Given the description of an element on the screen output the (x, y) to click on. 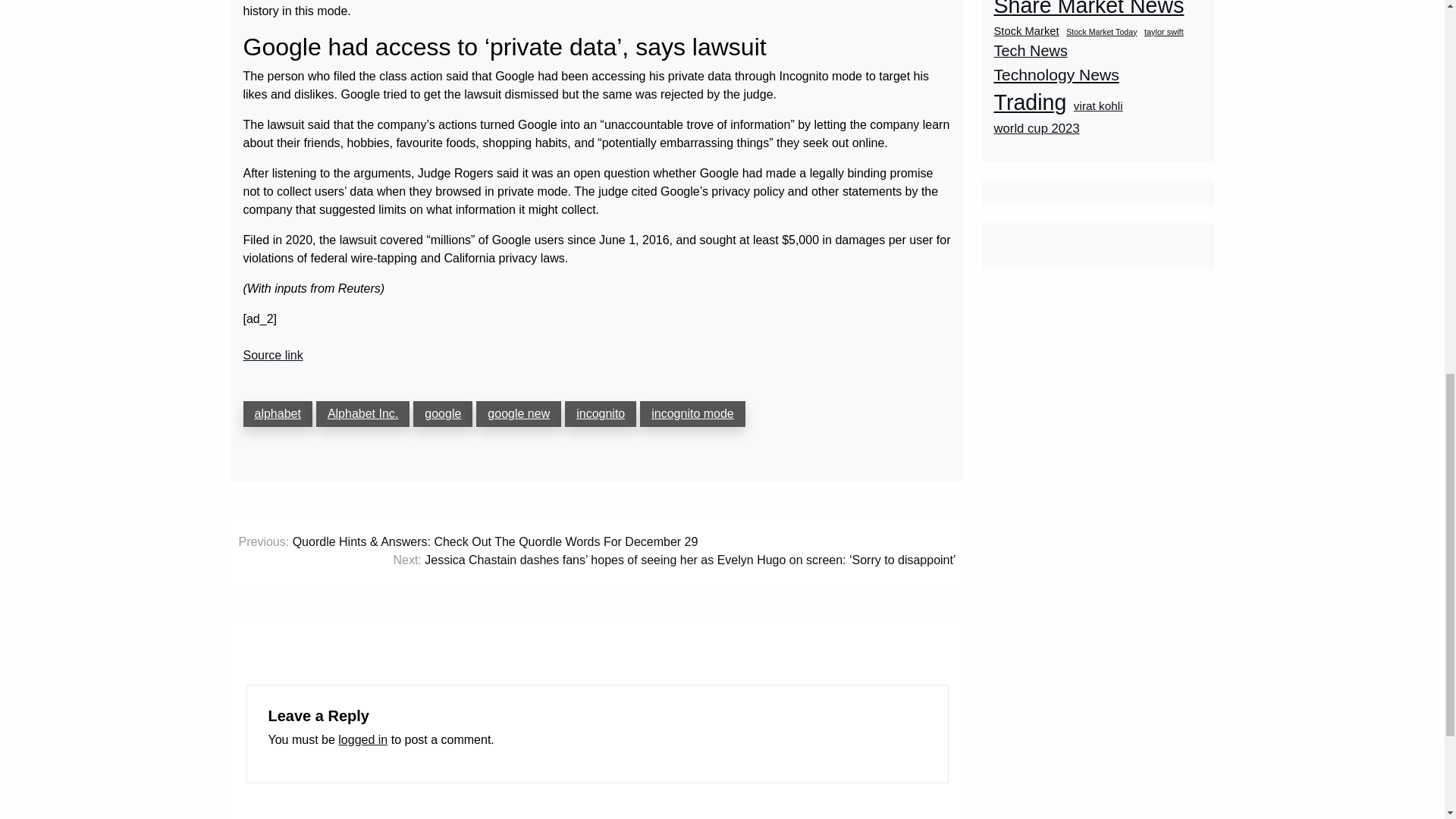
google (442, 413)
google new (518, 413)
Alphabet Inc. (362, 413)
Source link (272, 355)
alphabet (277, 413)
